Given the description of an element on the screen output the (x, y) to click on. 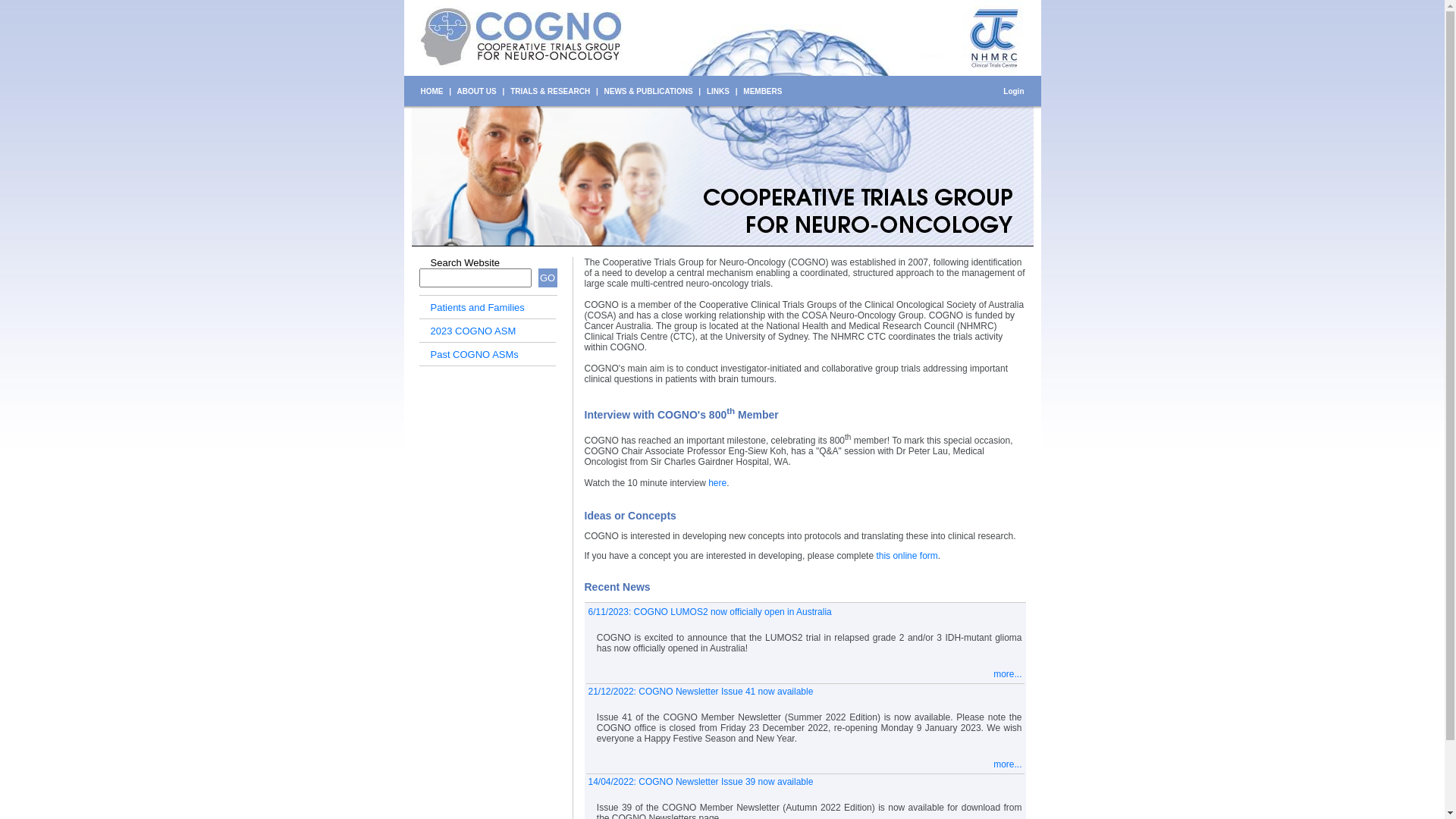
LINKS Element type: text (717, 90)
this online form Element type: text (906, 555)
Past COGNO ASMs Element type: text (474, 354)
Patients and Families Element type: text (477, 307)
here Element type: text (717, 482)
Login Element type: text (1013, 90)
more... Element type: text (1007, 673)
NEWS & PUBLICATIONS Element type: text (648, 90)
HOME Element type: text (431, 90)
TRIALS & RESEARCH Element type: text (549, 90)
21/12/2022: COGNO Newsletter Issue 41 now available Element type: text (700, 691)
GO Element type: text (547, 277)
2023 COGNO ASM Element type: text (473, 329)
6/11/2023: COGNO LUMOS2 now officially open in Australia Element type: text (709, 611)
ABOUT US Element type: text (476, 90)
MEMBERS Element type: text (762, 90)
more... Element type: text (1007, 764)
14/04/2022: COGNO Newsletter Issue 39 now available Element type: text (700, 781)
